Given the description of an element on the screen output the (x, y) to click on. 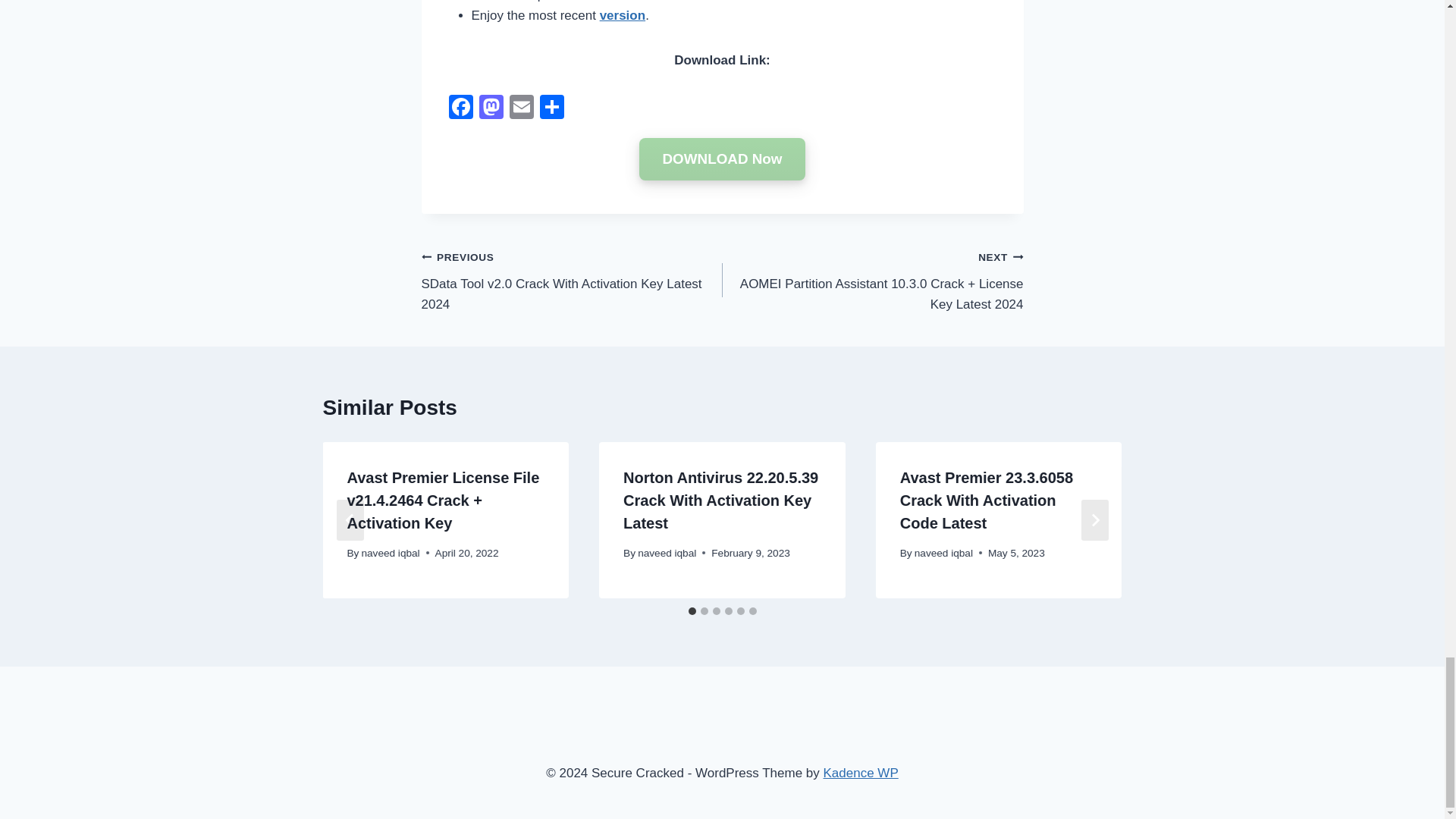
version (622, 15)
Mastodon (491, 108)
Facebook (460, 108)
Share (552, 108)
DOWNLOAD Now (722, 159)
Facebook (460, 108)
Email (521, 108)
DOWNLOAD Now (721, 159)
Email (521, 108)
Mastodon (491, 108)
